Given the description of an element on the screen output the (x, y) to click on. 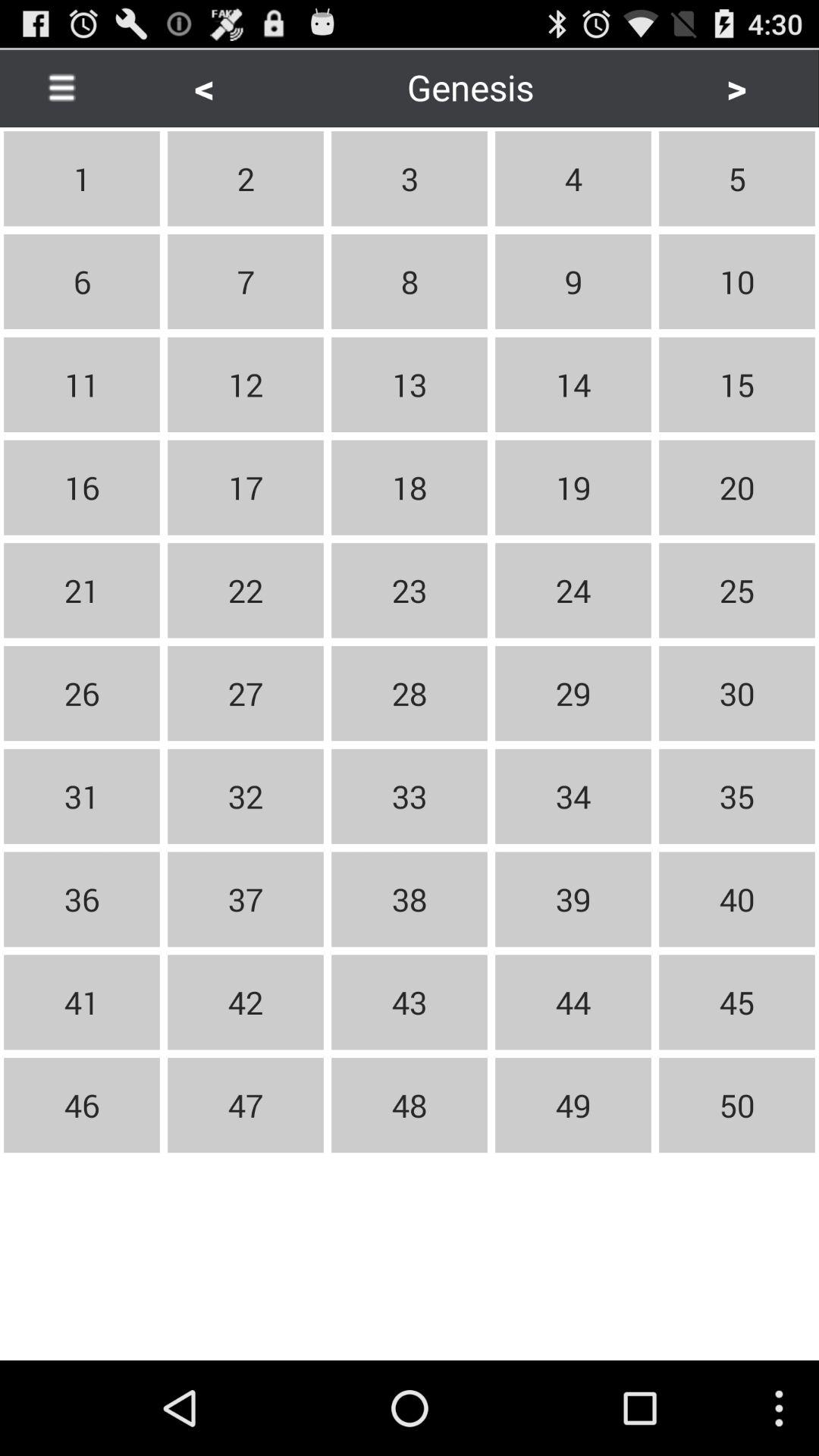
choose the button next to the < item (61, 87)
